Given the description of an element on the screen output the (x, y) to click on. 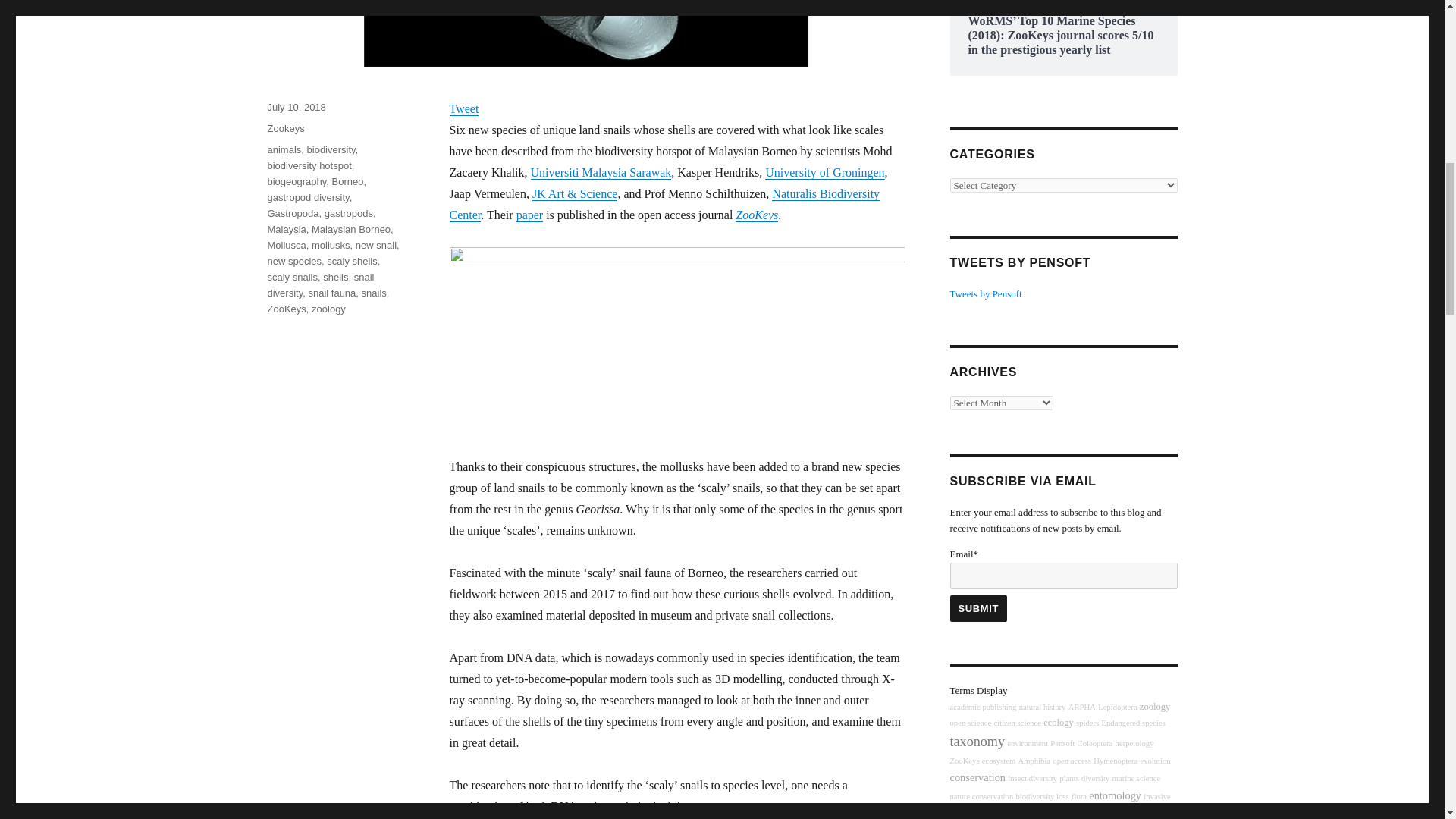
scaly snails (291, 276)
38 topics (1095, 743)
biogeography (296, 181)
24 topics (1016, 723)
gastropod diversity (307, 197)
226 topics (976, 741)
Gastropoda (292, 213)
34 topics (1082, 706)
Tweet (463, 108)
new species (293, 260)
35 topics (970, 723)
Universiti Malaysia Sarawak (601, 172)
28 topics (1042, 706)
37 topics (1117, 706)
Naturalis Biodiversity Center (663, 204)
